Given the description of an element on the screen output the (x, y) to click on. 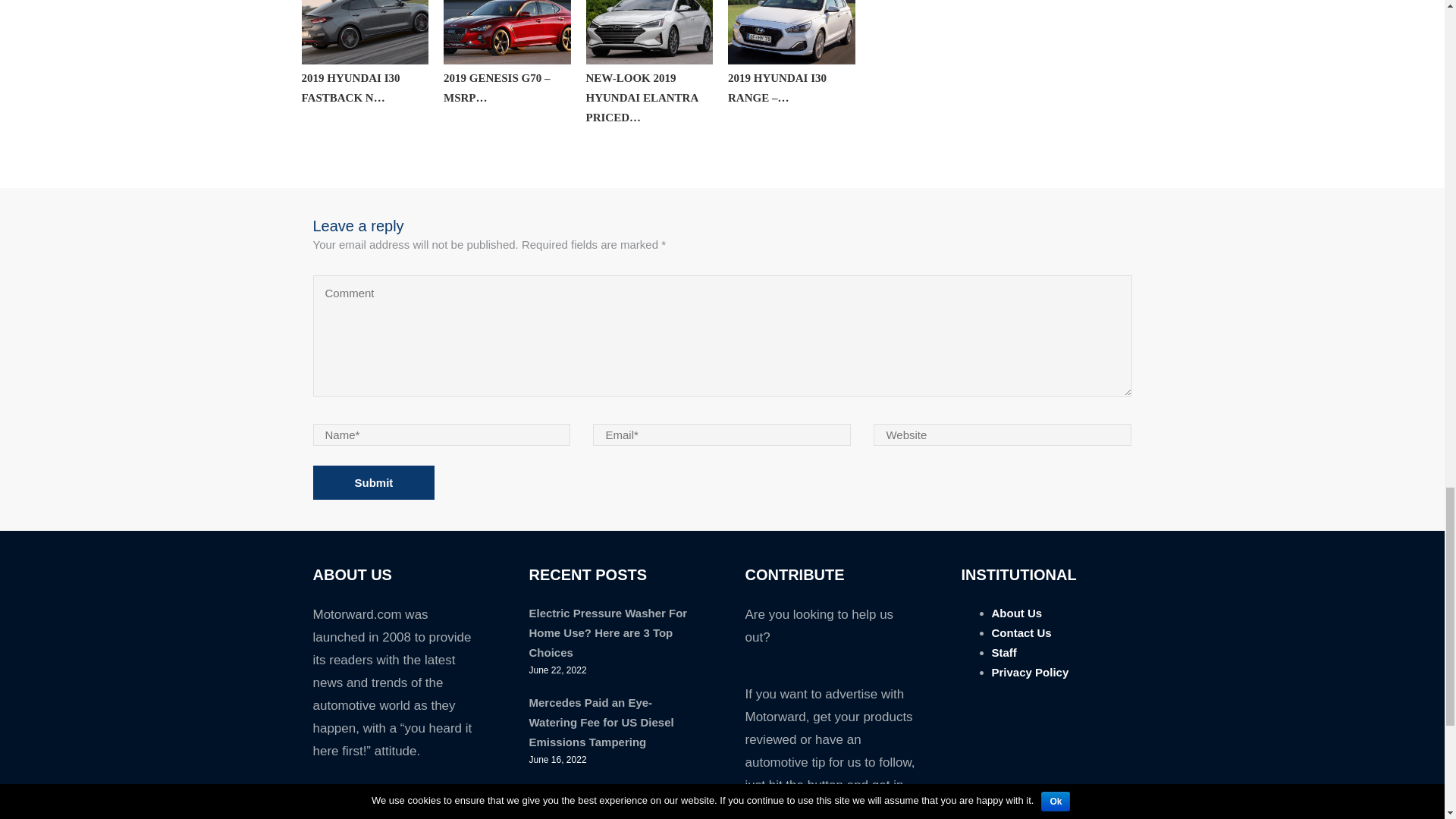
Submit (373, 482)
hyundai i30 5door sep2018 03 1610 550x360 (792, 32)
2019 Hyundai Elantra msrp 550x360 (649, 32)
2019 Genesis G70 MSRP 550x360 (507, 32)
All New Hyundai i30 Fastback N 9 550x360 (365, 32)
